Given the description of an element on the screen output the (x, y) to click on. 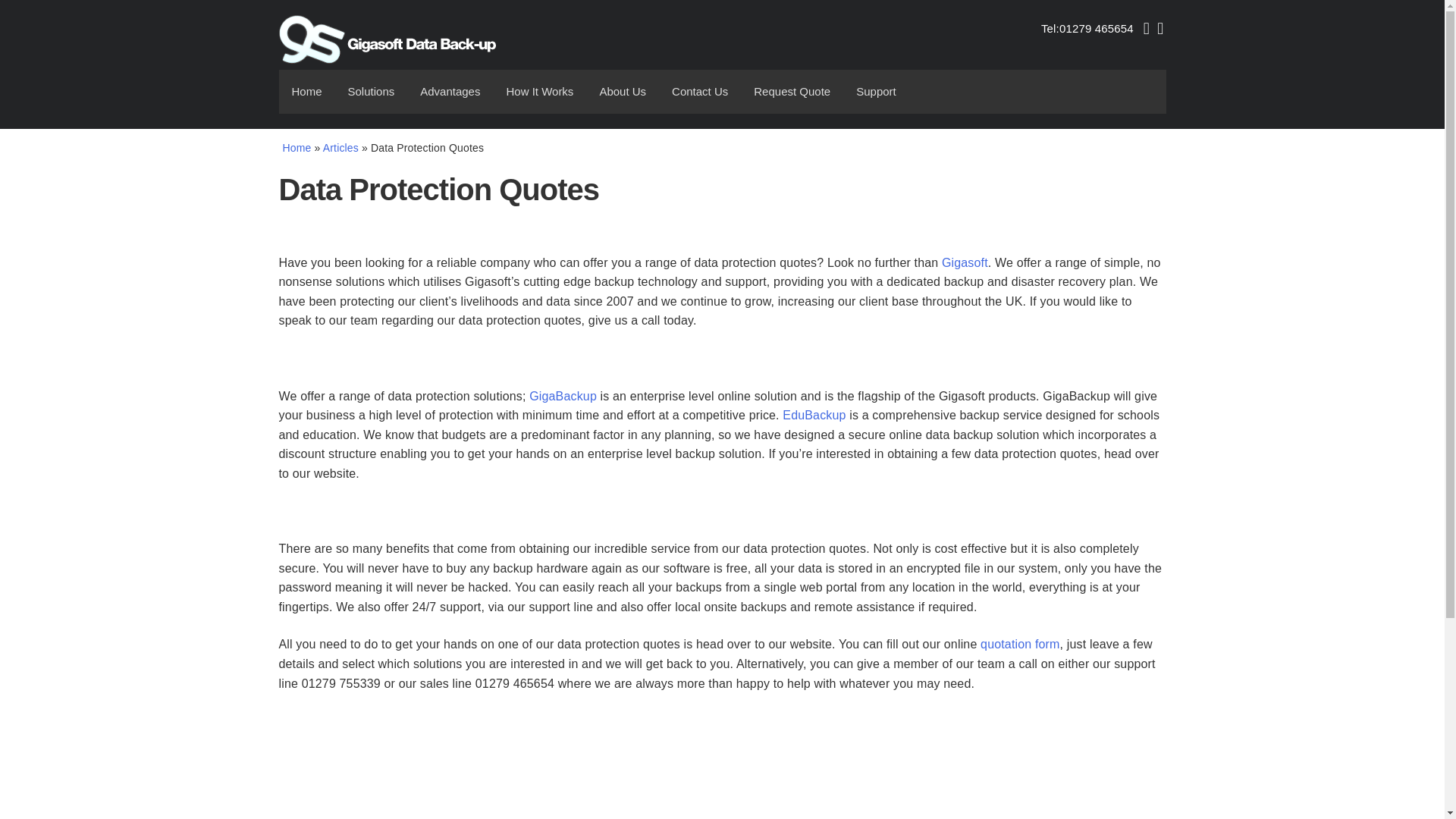
Articles (340, 147)
How It Works (539, 91)
Advantages (450, 91)
Home (296, 147)
Contact Us (700, 91)
Home (306, 91)
Request Quote (792, 91)
quotation form (1019, 644)
GigaBackup (562, 395)
Support (875, 91)
